Given the description of an element on the screen output the (x, y) to click on. 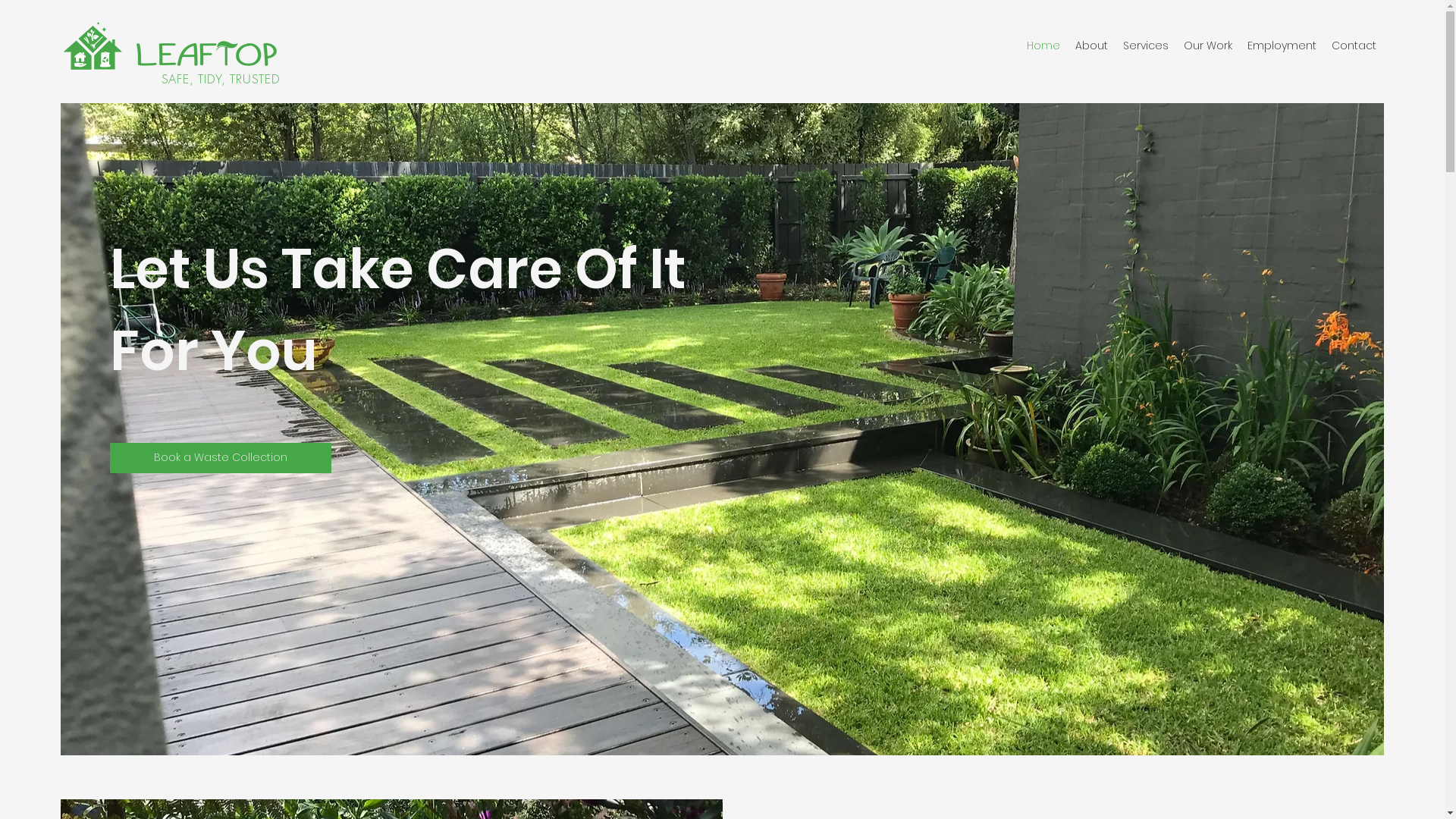
About Element type: text (1091, 45)
Our Work Element type: text (1207, 45)
Book a Waste Collection Element type: text (220, 457)
Contact Element type: text (1353, 45)
Employment Element type: text (1281, 45)
Home Element type: text (1043, 45)
Services Element type: text (1145, 45)
